Given the description of an element on the screen output the (x, y) to click on. 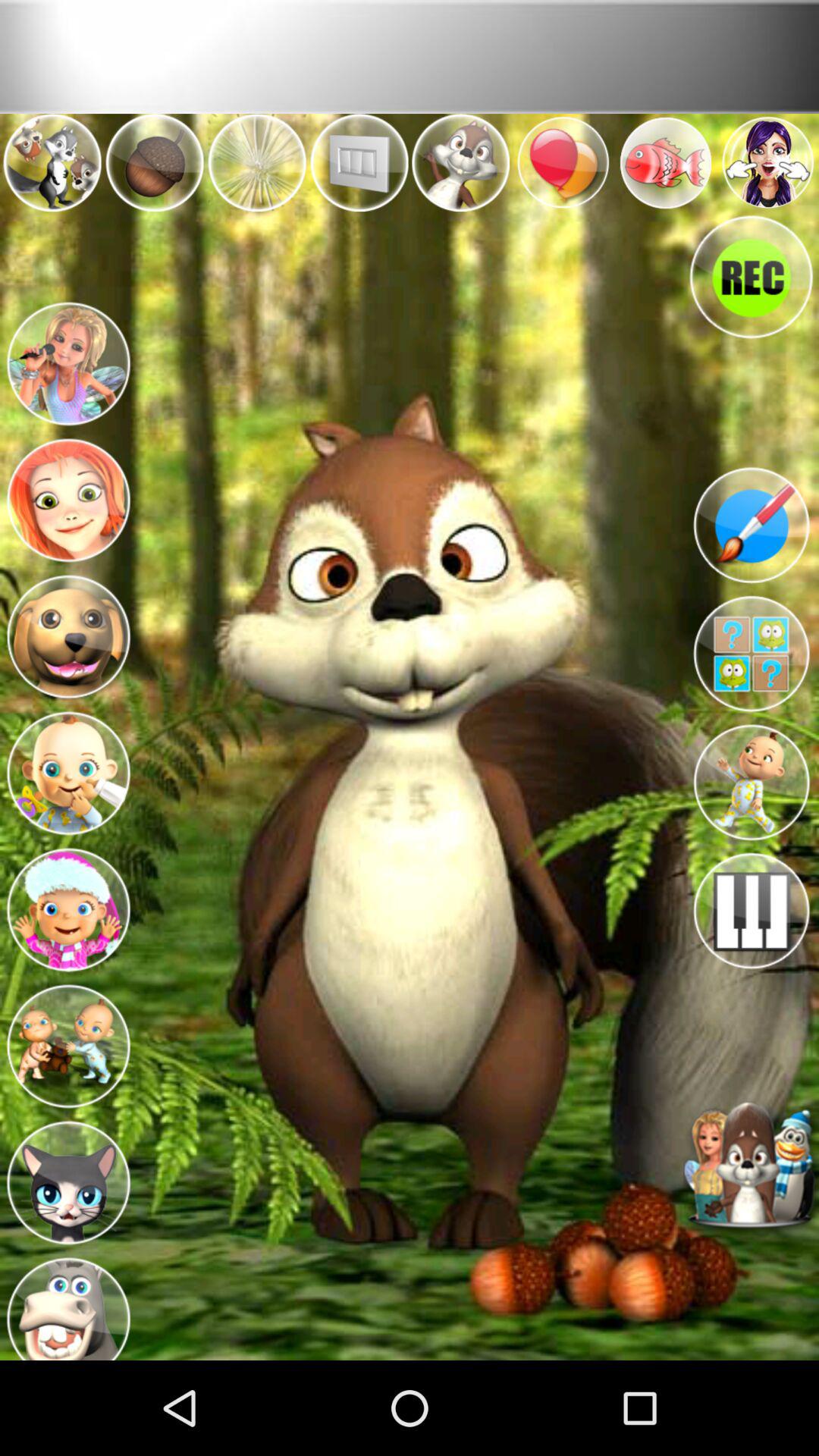
select cow (68, 1303)
